Given the description of an element on the screen output the (x, y) to click on. 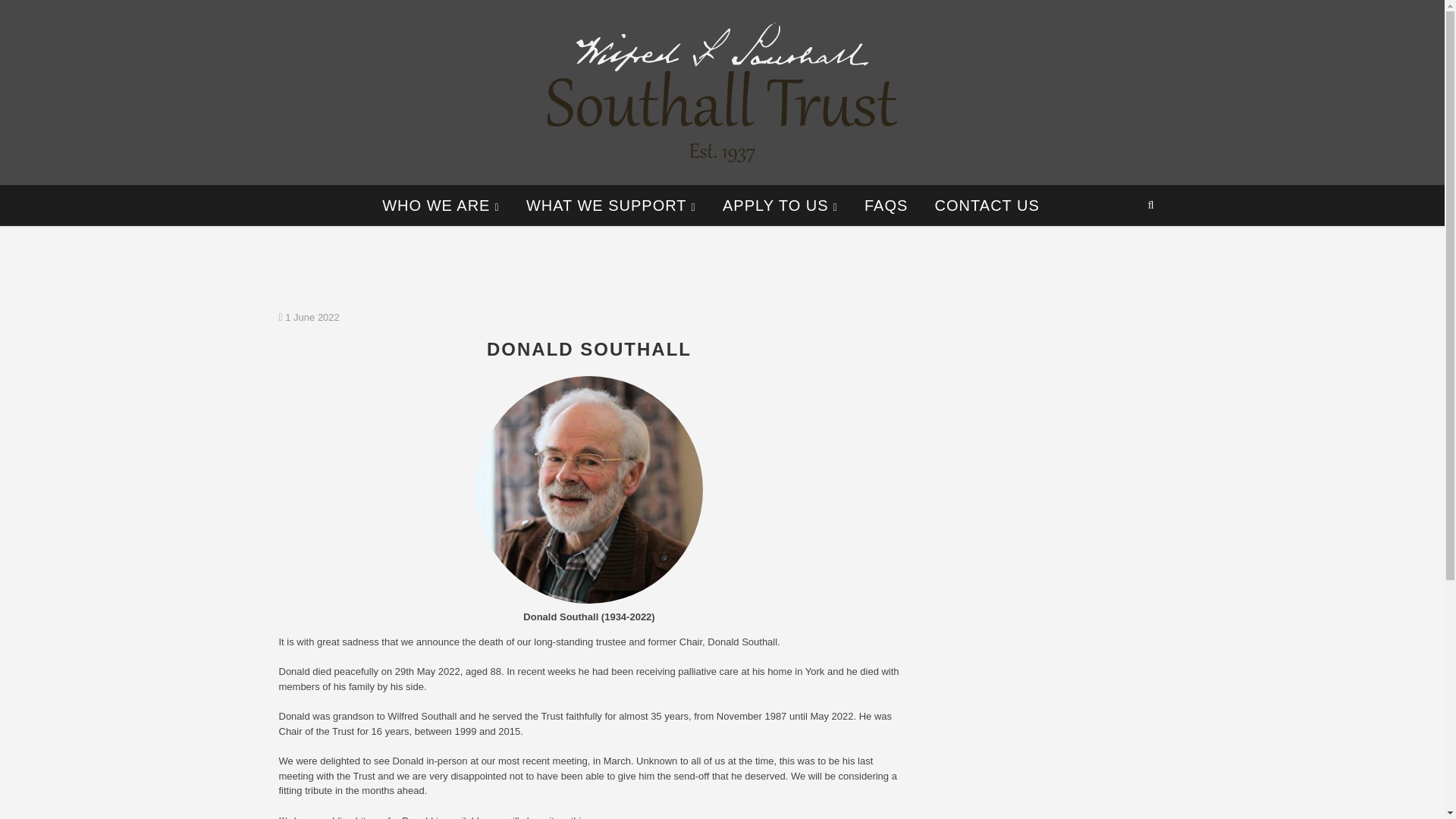
WHO WE ARE (441, 205)
FAQS (885, 205)
CONTACT US (987, 205)
1 June 2022 (309, 317)
The Southall Trust (612, 180)
The Southall Trust (612, 180)
APPLY TO US (779, 205)
10:19 (309, 317)
WHAT WE SUPPORT (611, 205)
